Given the description of an element on the screen output the (x, y) to click on. 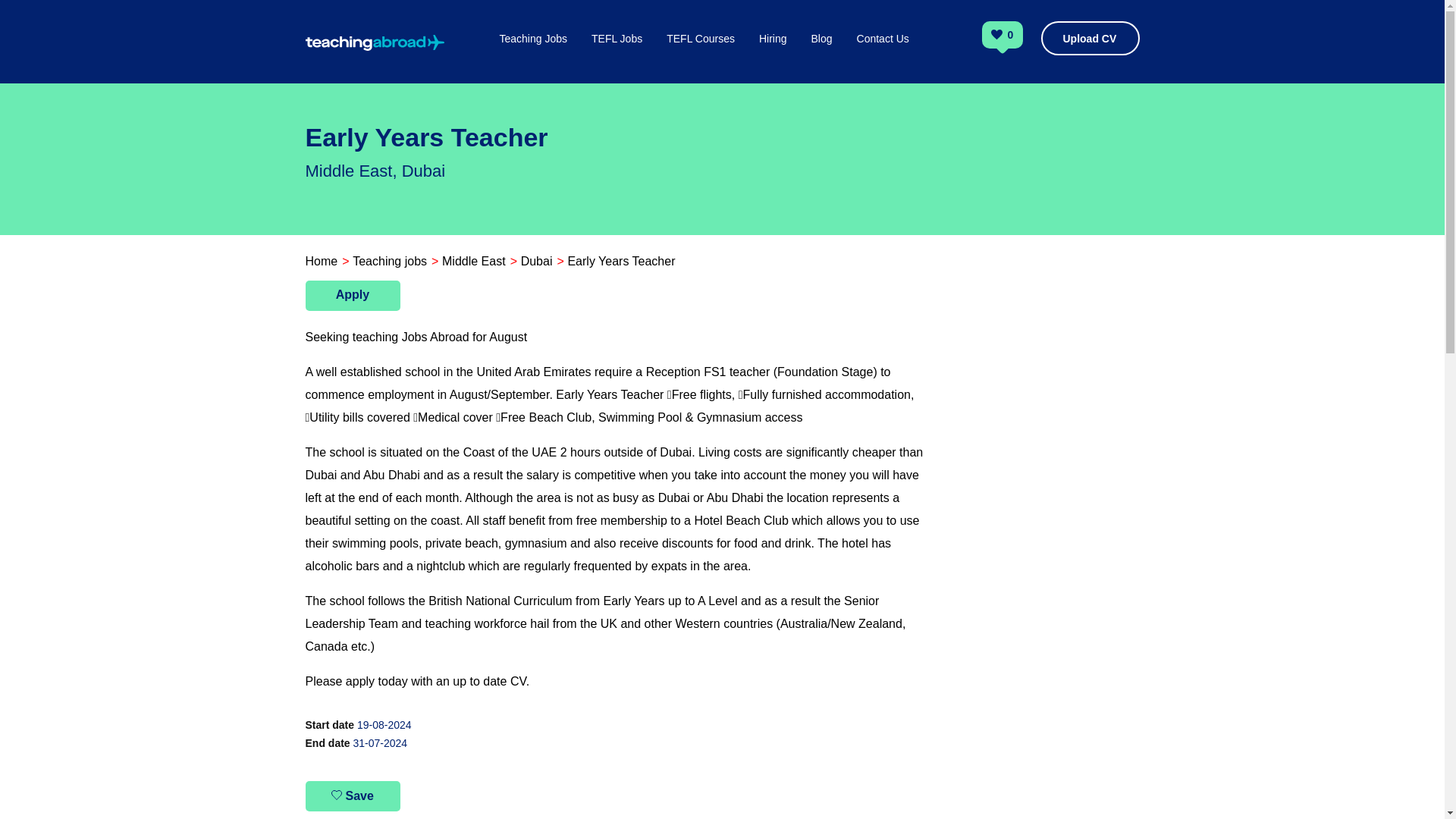
Contact Us (882, 55)
TEFL Jobs (616, 55)
Teaching jobs (389, 260)
0 (1011, 36)
Apply (351, 295)
Dubai (537, 260)
Upload CV (1089, 38)
TEFL Courses (700, 55)
Home (320, 260)
Teaching Jobs (533, 55)
